Given the description of an element on the screen output the (x, y) to click on. 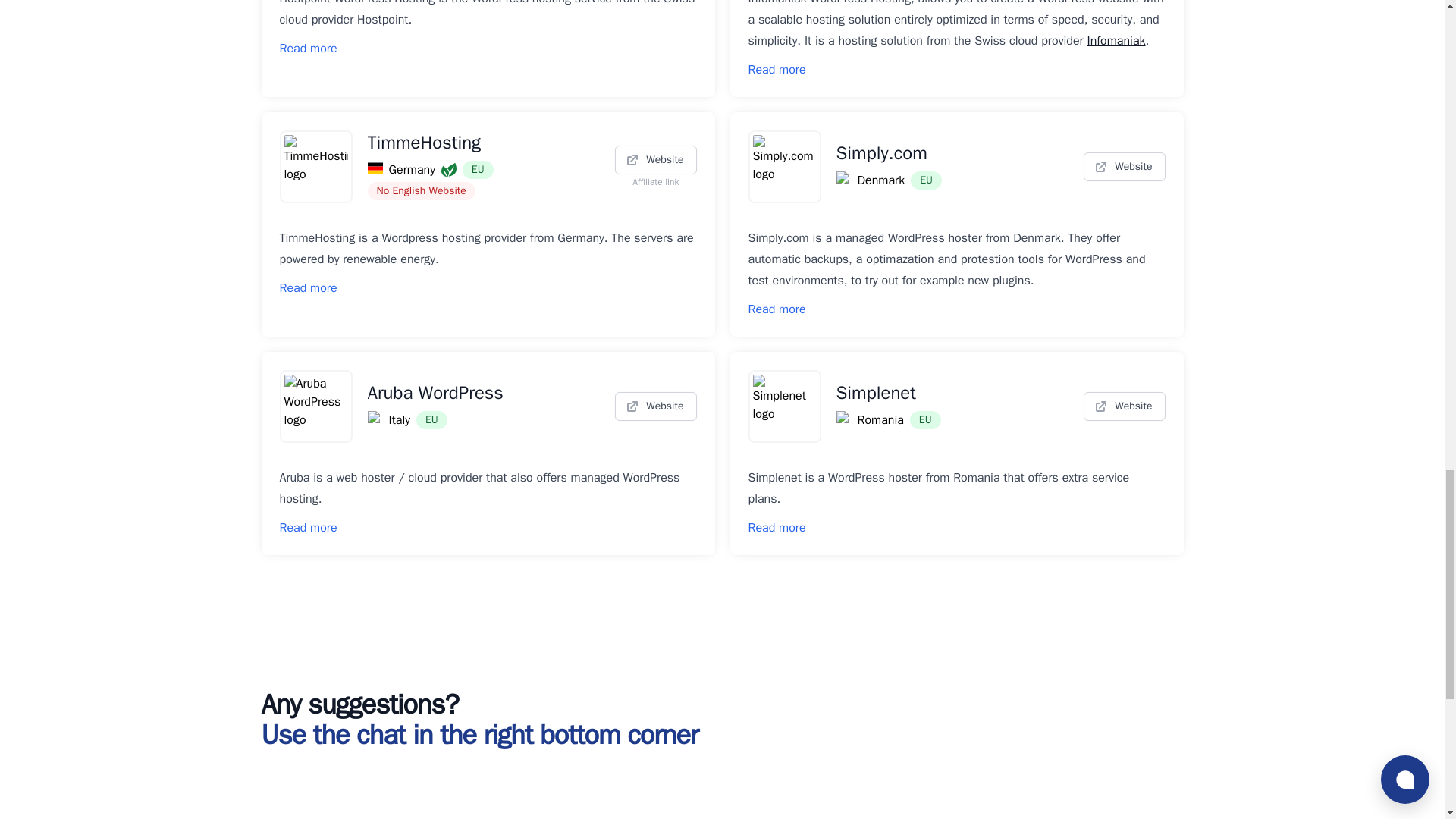
European Union (925, 420)
European Union (431, 420)
European Union (478, 169)
European Union (926, 180)
